Given the description of an element on the screen output the (x, y) to click on. 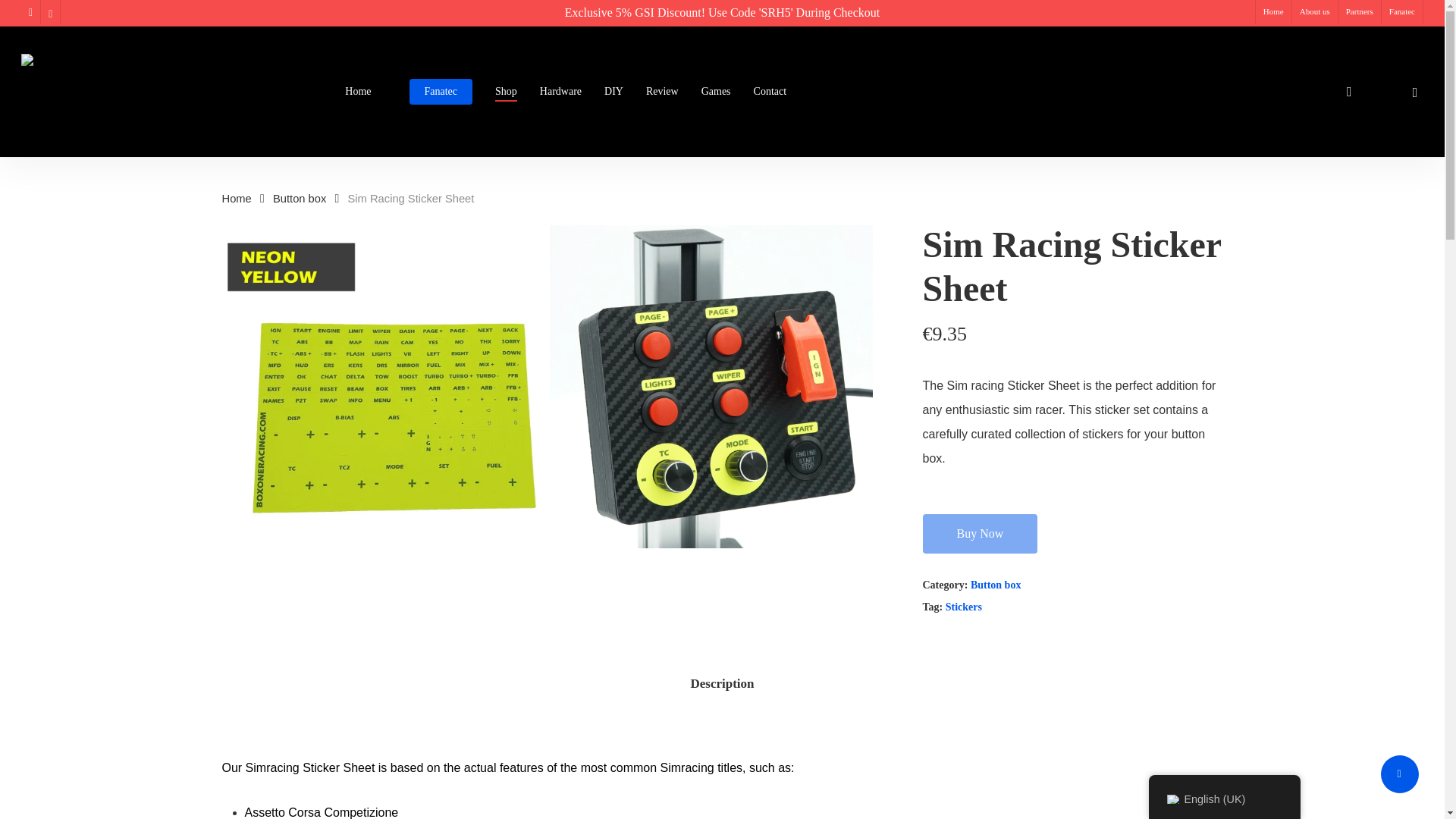
Button box (996, 584)
Home (357, 91)
Games (715, 91)
Fanatec (1401, 11)
Description (722, 684)
Button box (299, 198)
About us (1314, 11)
Fanatec (441, 91)
Hardware (560, 91)
Sim Racing Sticker Sheet Box One Racing (382, 386)
Stickers (962, 606)
Shop (505, 91)
Contact (770, 91)
Partners (1359, 11)
Buy Now (978, 533)
